Given the description of an element on the screen output the (x, y) to click on. 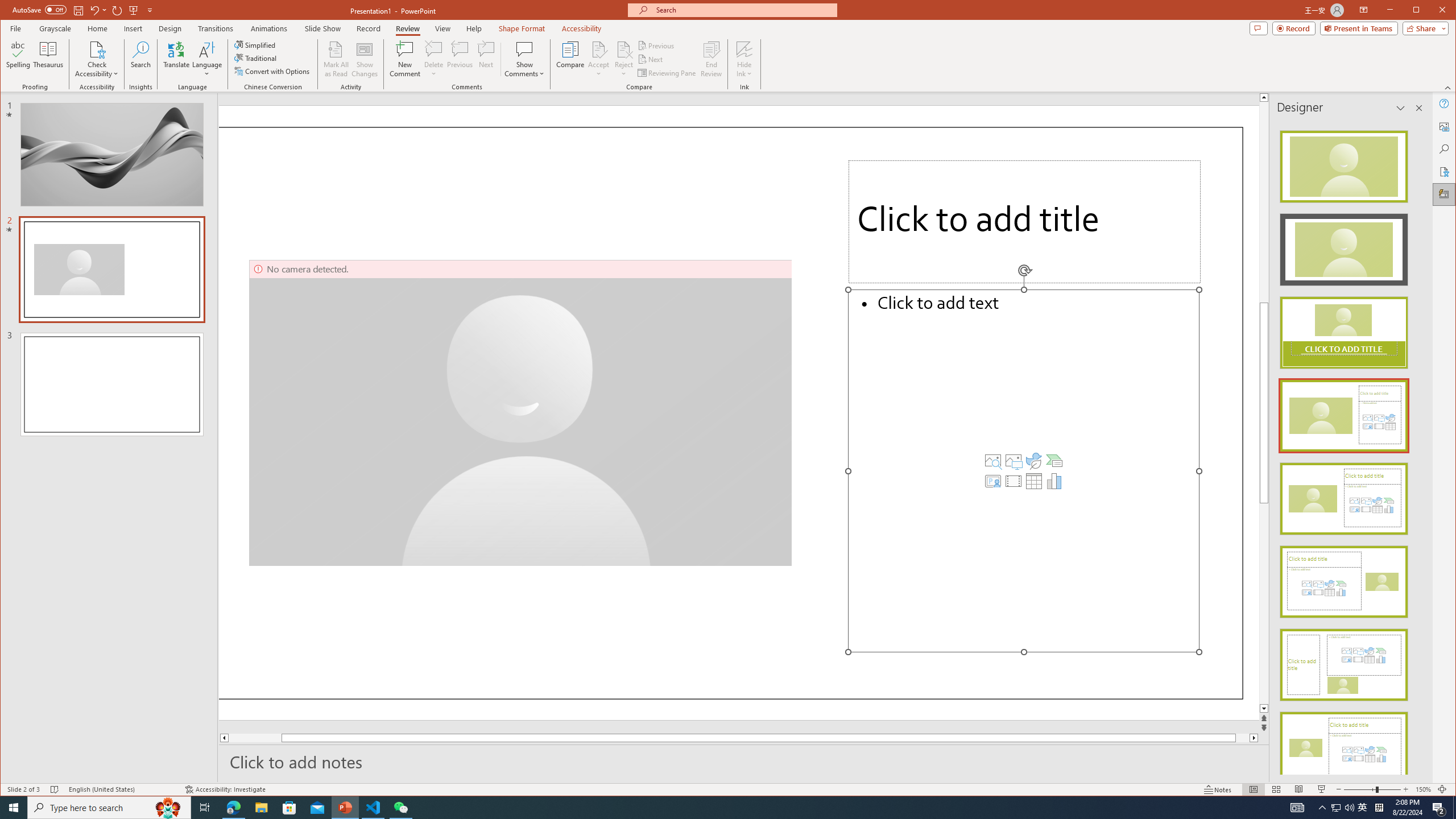
Camera 4, No camera detected. (520, 412)
Show Changes (365, 59)
End Review (710, 59)
Thesaurus... (48, 59)
